Given the description of an element on the screen output the (x, y) to click on. 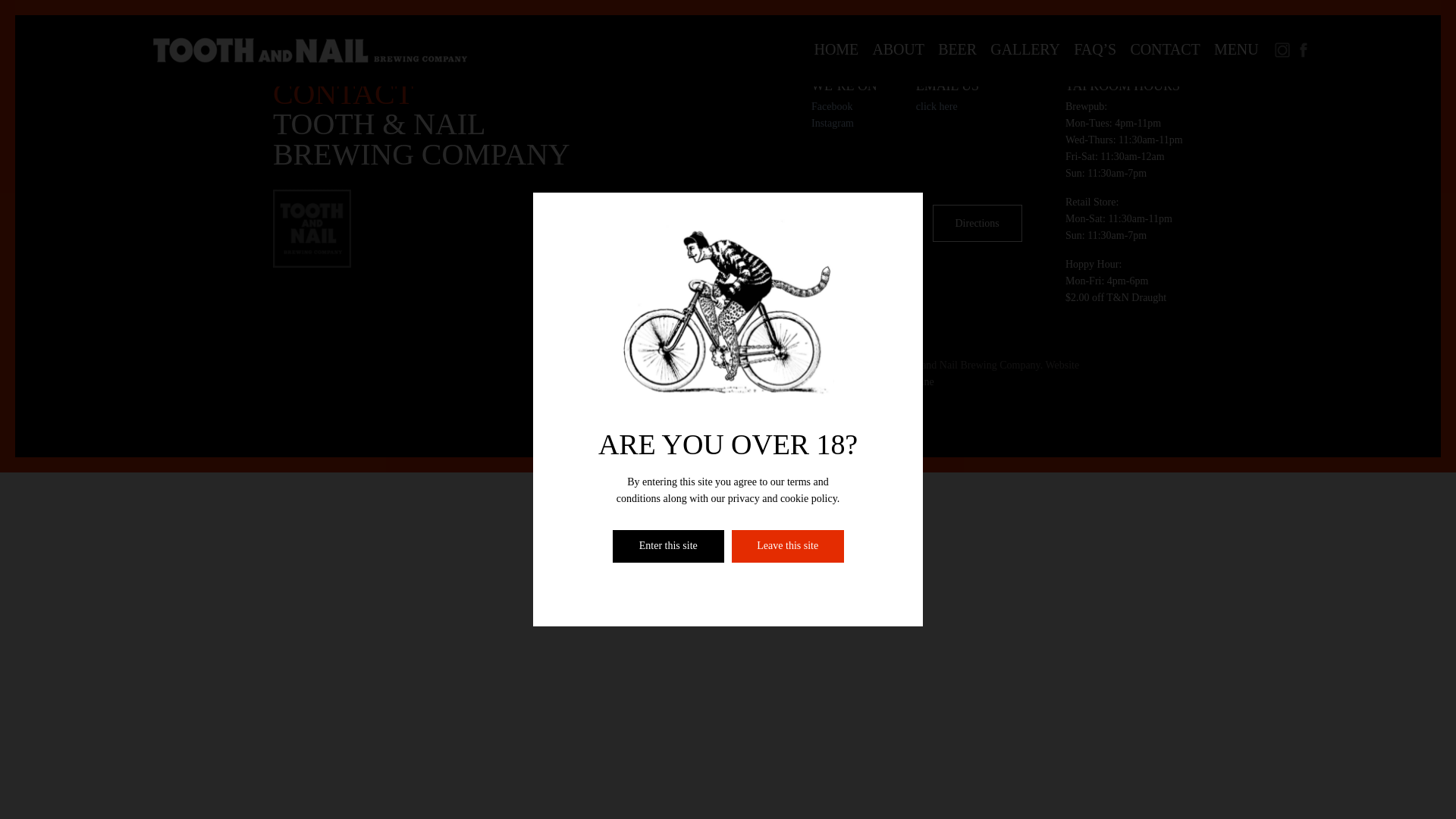
ABOUT (897, 49)
MENU (1235, 49)
Directions (977, 222)
GALLERY (1025, 49)
Facebook (830, 106)
ABOUT (897, 49)
HOME (836, 49)
GALLERY (1025, 49)
Facebook (830, 106)
CONTACT (1165, 49)
